Given the description of an element on the screen output the (x, y) to click on. 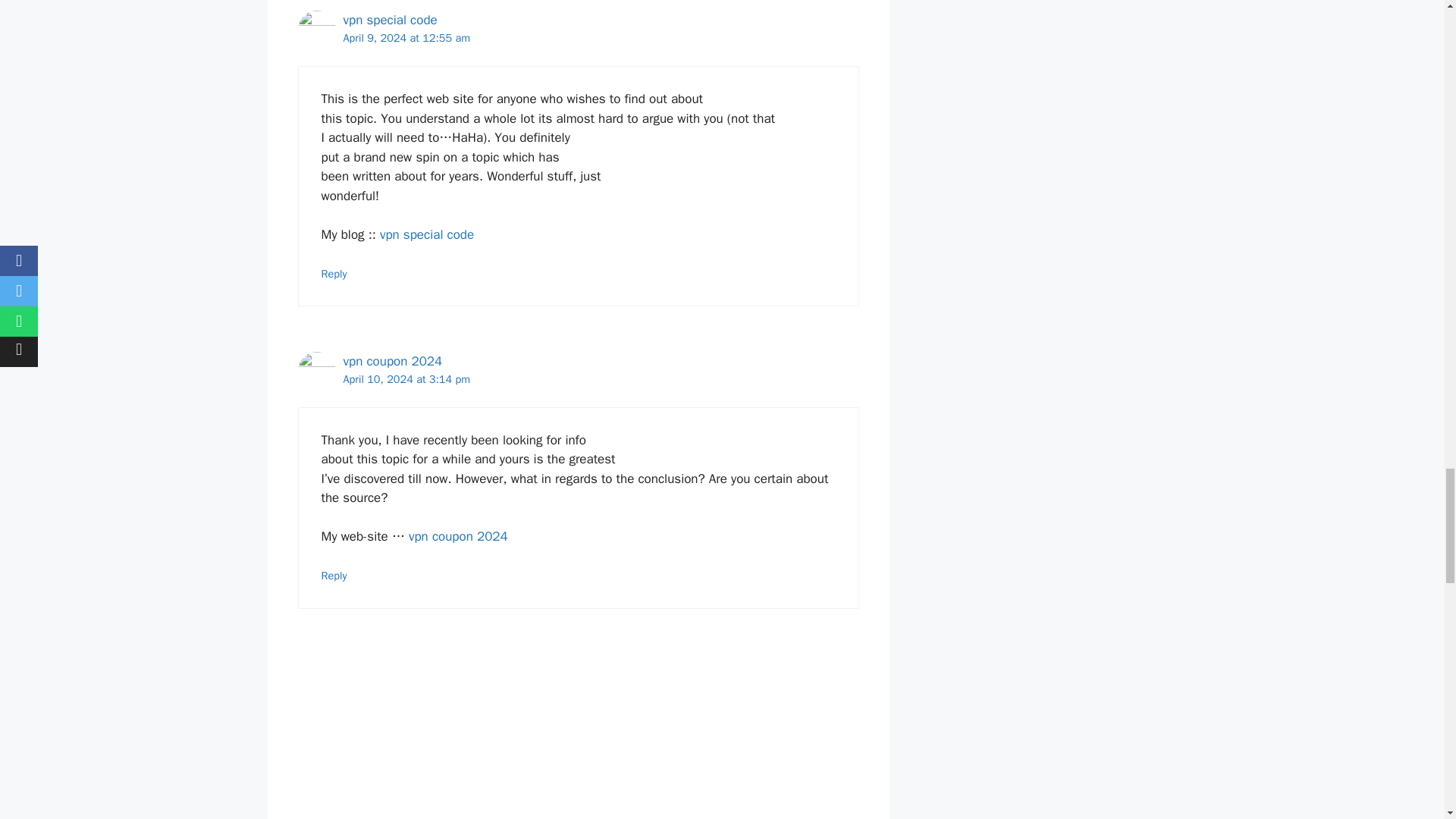
vpn special code (427, 234)
April 9, 2024 at 12:55 am (406, 38)
vpn special code (389, 19)
